Given the description of an element on the screen output the (x, y) to click on. 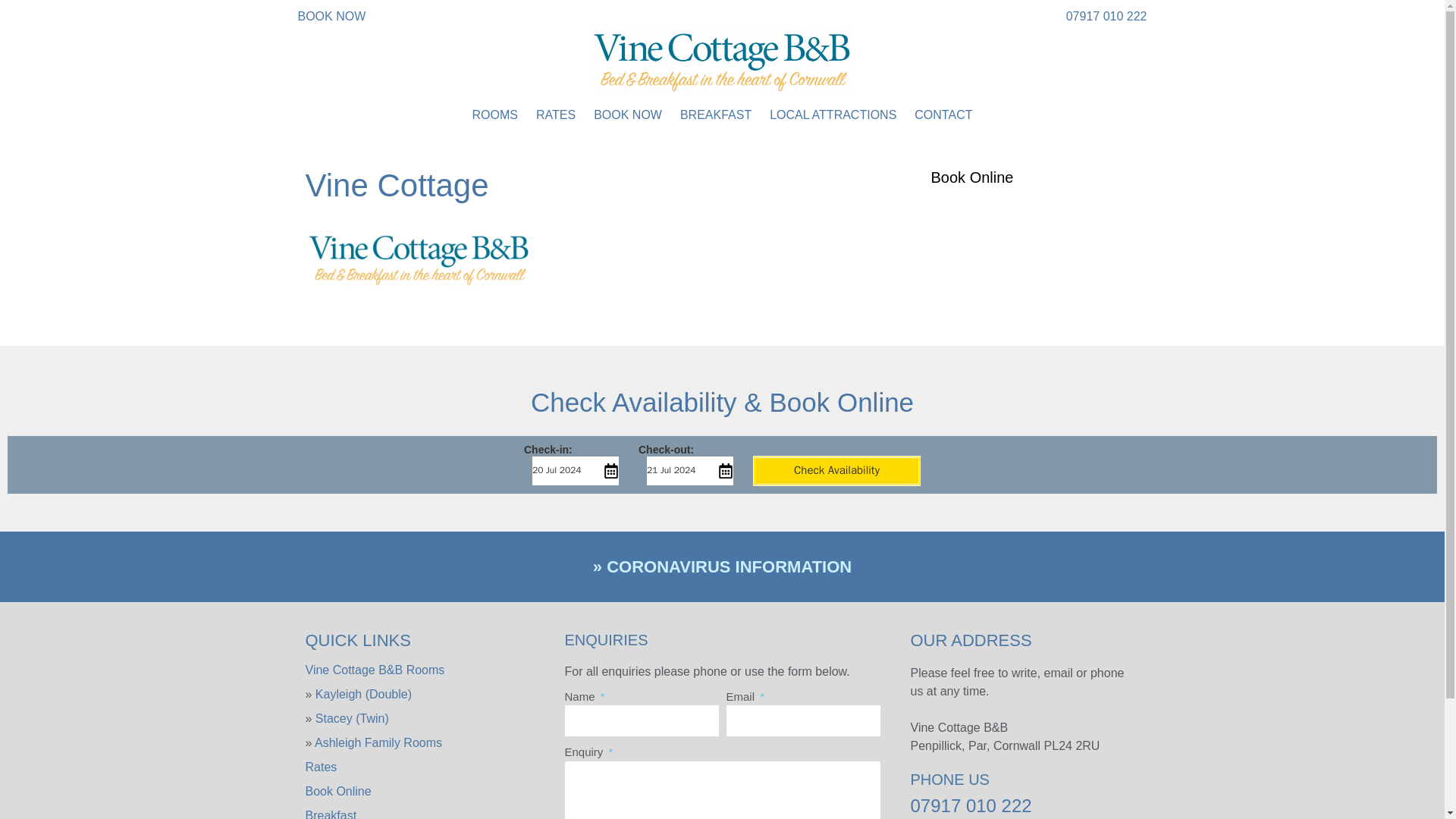
Ashleigh Family Rooms (378, 742)
07917 010 222 (1106, 15)
ROOMS (494, 115)
Book Online (337, 790)
Rates (320, 766)
RATES (555, 115)
BOOK NOW (331, 15)
BREAKFAST (715, 115)
CONTACT (943, 115)
20 Jul 2024 (573, 470)
Breakfast (330, 814)
LOCAL ATTRACTIONS (833, 115)
21 Jul 2024 (688, 470)
BOOK NOW (628, 115)
Check Availability (836, 470)
